Given the description of an element on the screen output the (x, y) to click on. 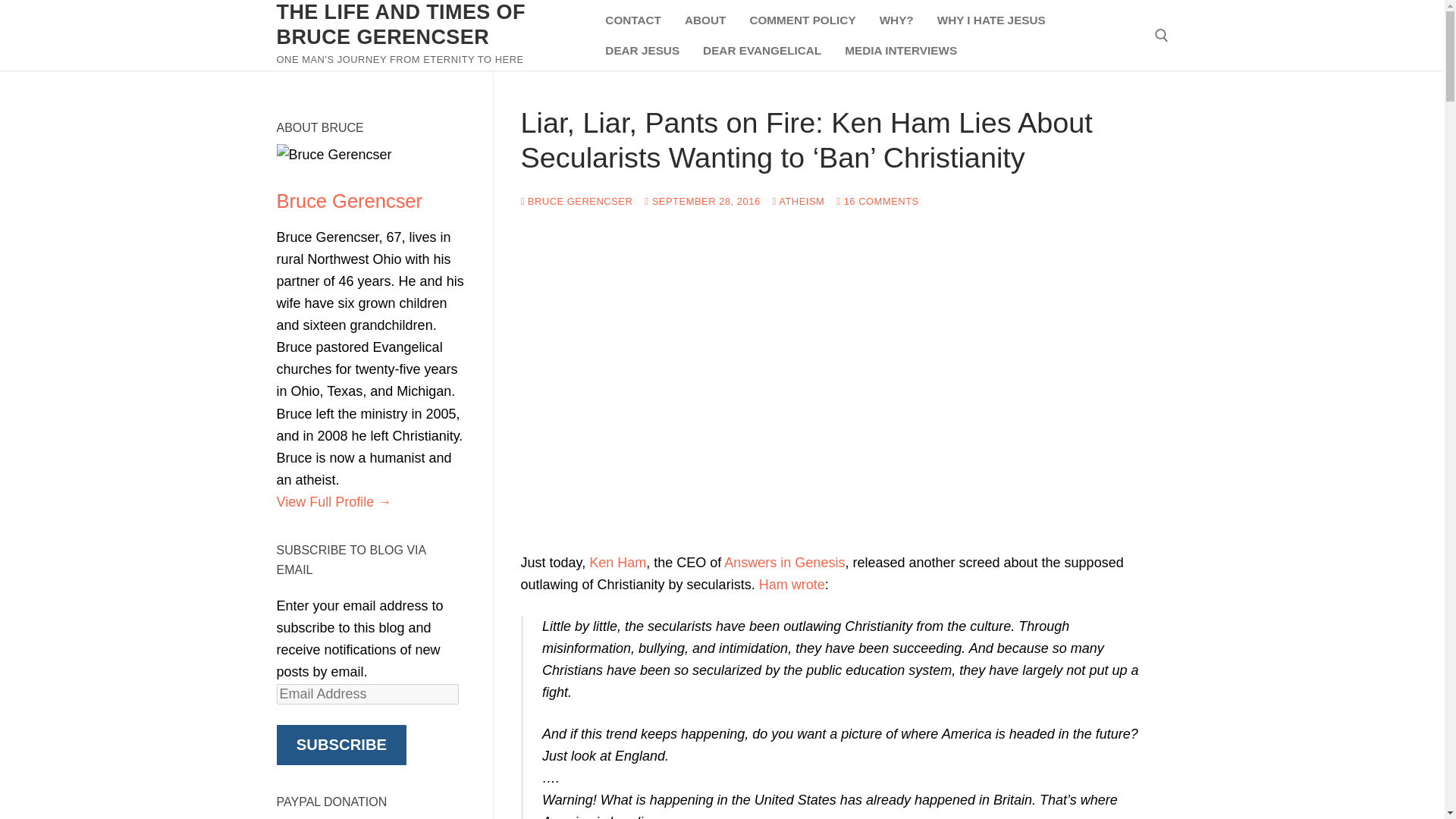
Ken Ham (617, 562)
Answers in Genesis (783, 562)
ATHEISM (799, 201)
WHY I HATE JESUS (991, 19)
COMMENT POLICY (801, 19)
Ham wrote (791, 584)
THE LIFE AND TIMES OF BRUCE GERENCSER (428, 24)
SEPTEMBER 28, 2016 (702, 201)
DEAR EVANGELICAL (762, 50)
16 COMMENTS (876, 201)
DEAR JESUS (641, 50)
BRUCE GERENCSER (575, 201)
MEDIA INTERVIEWS (900, 50)
CONTACT (633, 19)
WHY? (896, 19)
